Given the description of an element on the screen output the (x, y) to click on. 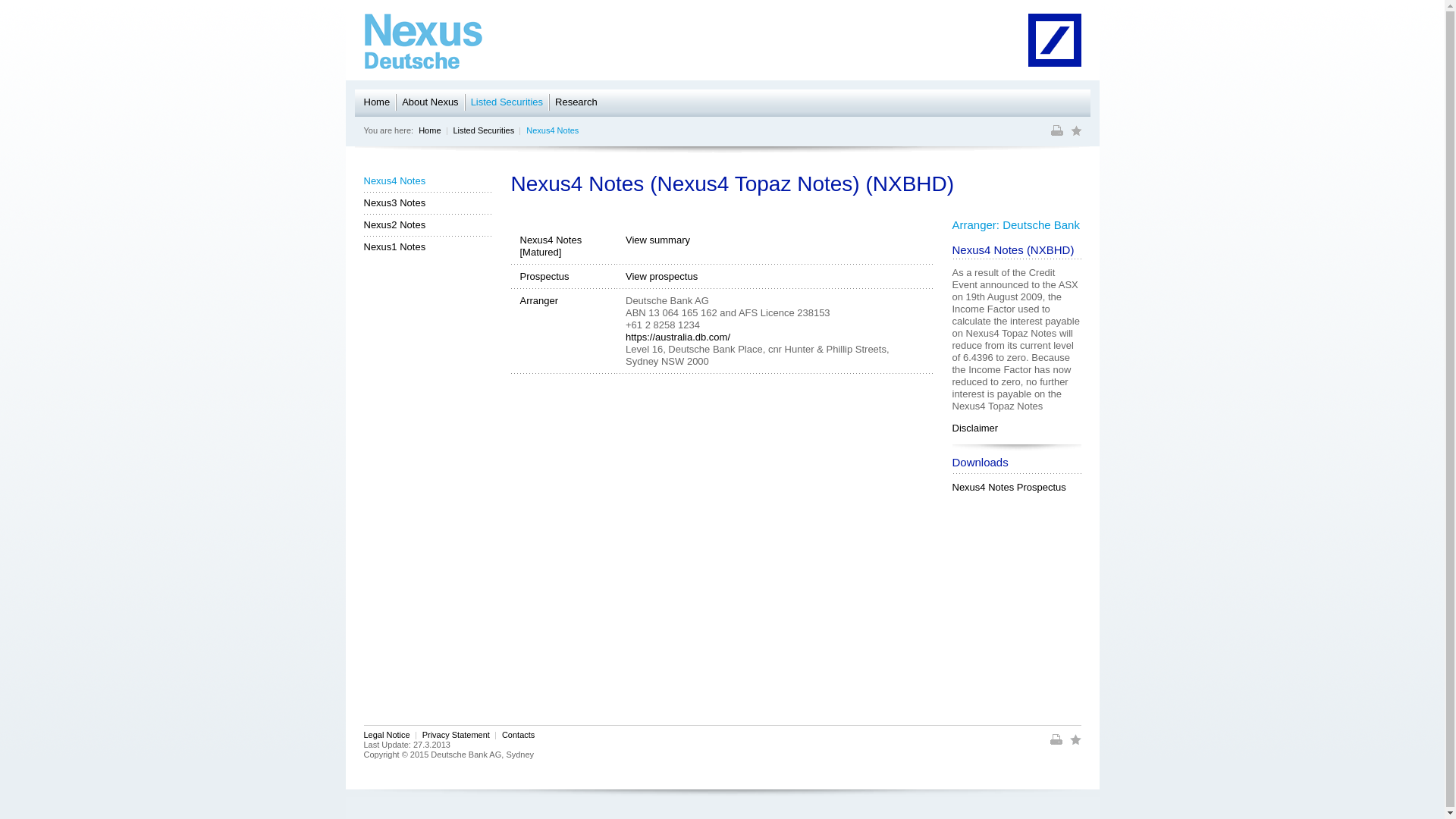
View prospectus Element type: text (661, 276)
https://australia.db.com/ Element type: text (677, 336)
Listed Securities Element type: text (506, 102)
Nexus3 Notes Element type: text (428, 202)
Add bookmark Element type: hover (1076, 132)
Research Element type: text (576, 102)
Disclaimer Element type: text (975, 427)
Home Element type: text (377, 102)
About Nexus Element type: text (429, 102)
Nexus4 Notes Element type: text (552, 129)
Print version Element type: hover (1057, 132)
Contacts Element type: text (518, 734)
Nexus4 Notes Element type: text (428, 180)
Nexus4 Notes Prospectus Element type: text (1009, 486)
Home Element type: text (429, 129)
Privacy Statement Element type: text (455, 734)
View summary Element type: text (657, 239)
Print version Element type: hover (1056, 741)
Nexus1 Notes Element type: text (428, 246)
Add bookmark Element type: hover (1074, 741)
Nexus2 Notes Element type: text (428, 224)
Legal Notice Element type: text (387, 734)
Listed Securities Element type: text (483, 129)
